Given the description of an element on the screen output the (x, y) to click on. 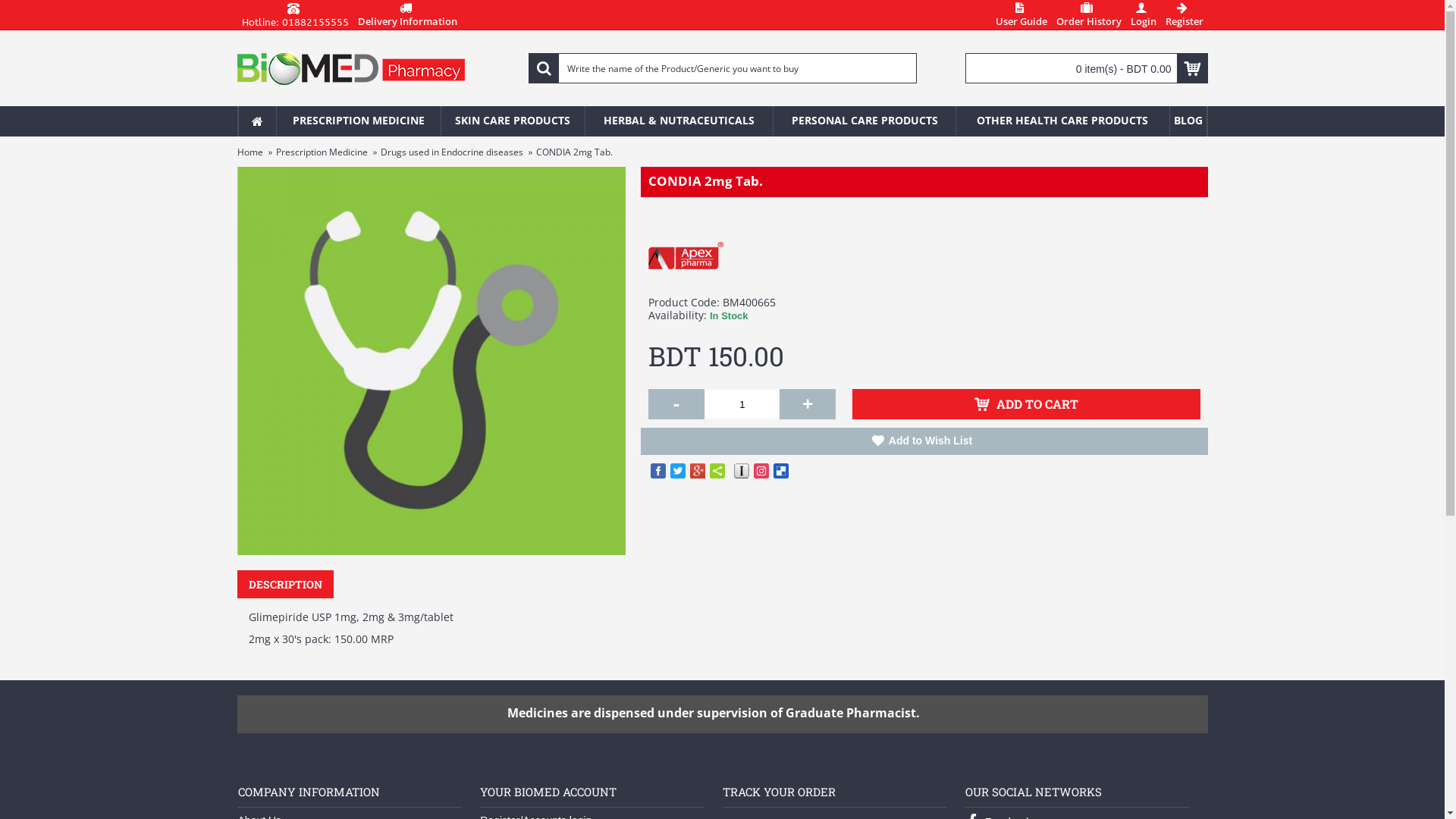
BLOG Element type: text (1188, 121)
CONDIA 2mg Tab. Element type: text (573, 152)
0 item(s) - BDT 0.00 Element type: text (1086, 67)
- Element type: text (675, 404)
0 item(s) - BDT 0.00 Element type: text (1086, 68)
Delivery Information Element type: text (407, 15)
Order History Element type: text (1088, 15)
+ Element type: text (807, 404)
Home Element type: text (249, 152)
SKIN CARE PRODUCTS Element type: text (512, 121)
Biomed Pharmacy Element type: hover (350, 67)
Prescription Medicine Element type: text (321, 152)
User Guide Element type: text (1020, 15)
OTHER HEALTH CARE PRODUCTS Element type: text (1062, 121)
PRESCRIPTION MEDICINE Element type: text (357, 121)
CONDIA 2mg Tab. Element type: hover (430, 360)
Add to Wish List Element type: text (923, 440)
Drugs used in Endocrine diseases Element type: text (451, 152)
DESCRIPTION Element type: text (284, 584)
Register Element type: text (1183, 15)
HERBAL & NUTRACEUTICALS Element type: text (678, 121)
PERSONAL CARE PRODUCTS Element type: text (864, 121)
ADD TO CART Element type: text (1026, 404)
Login Element type: text (1142, 15)
